Given the description of an element on the screen output the (x, y) to click on. 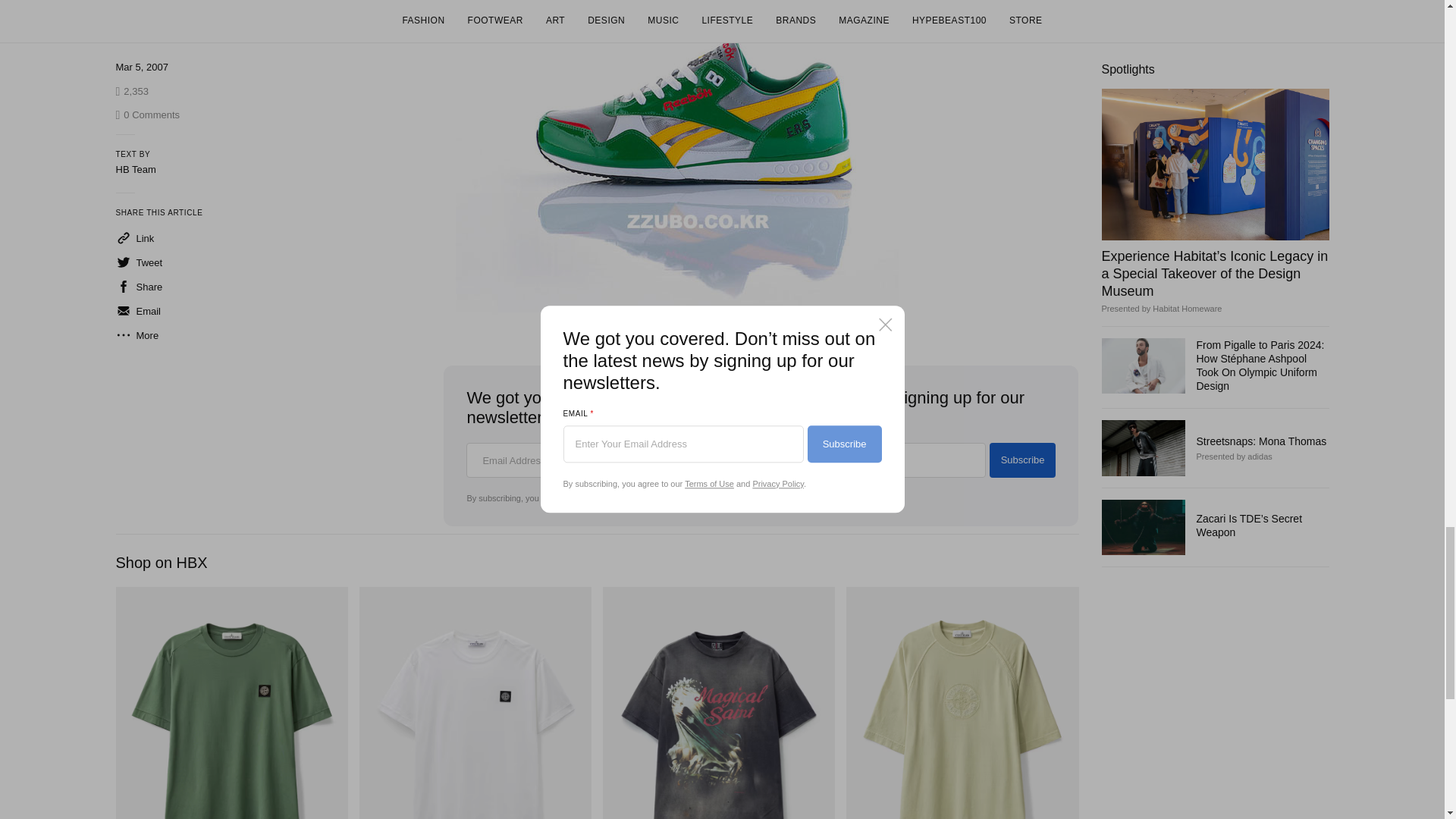
Short-sleeve T-shirt (231, 703)
Terms of Use (612, 497)
Magical Saint T-Shirt (718, 703)
Subscribe (1023, 460)
Privacy Policy (681, 497)
SC-stitched Compass Short-sleeve T-shirt (961, 703)
Short-sleeve T-shirt (475, 703)
